Given the description of an element on the screen output the (x, y) to click on. 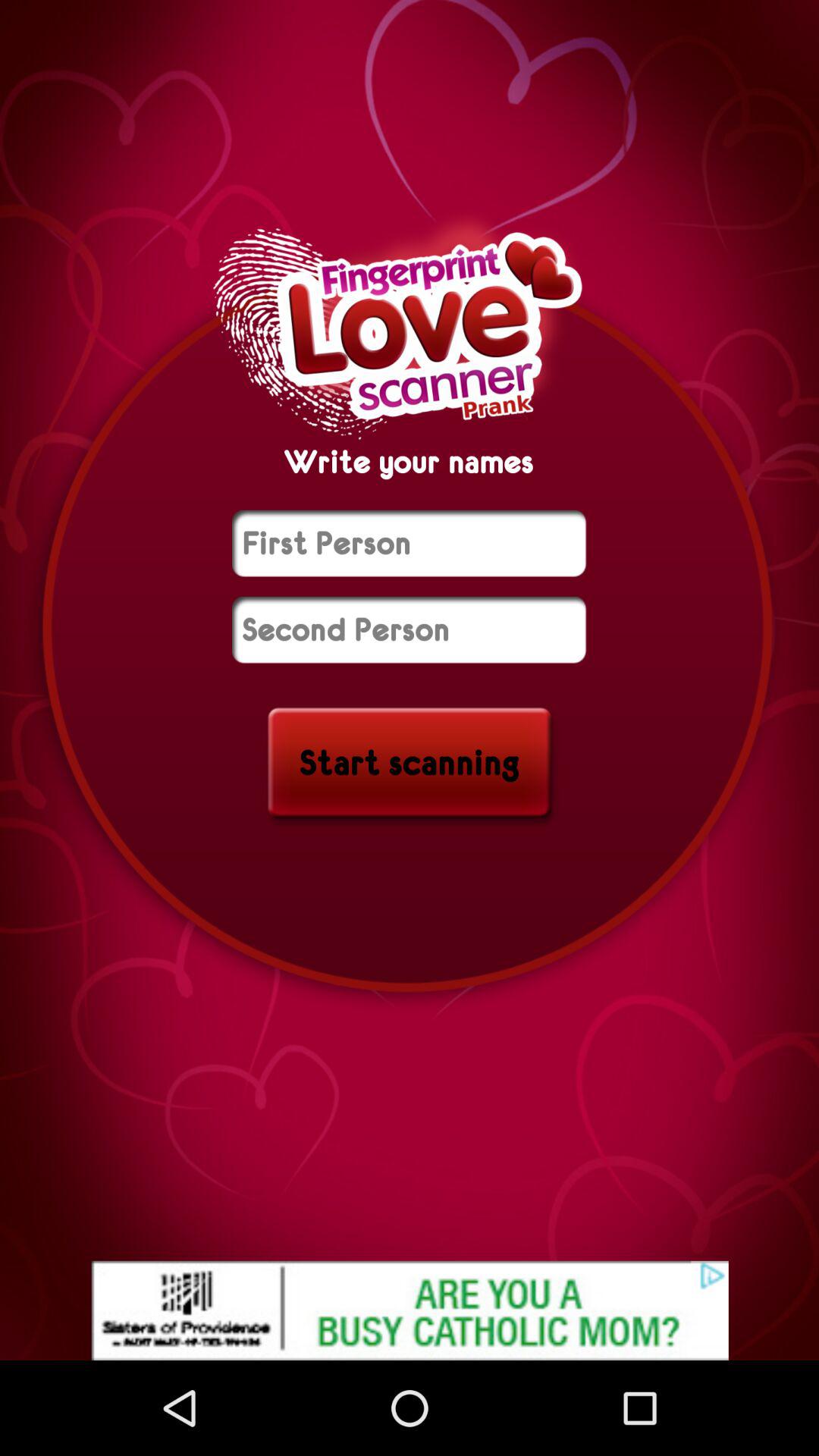
pass word page (409, 543)
